Given the description of an element on the screen output the (x, y) to click on. 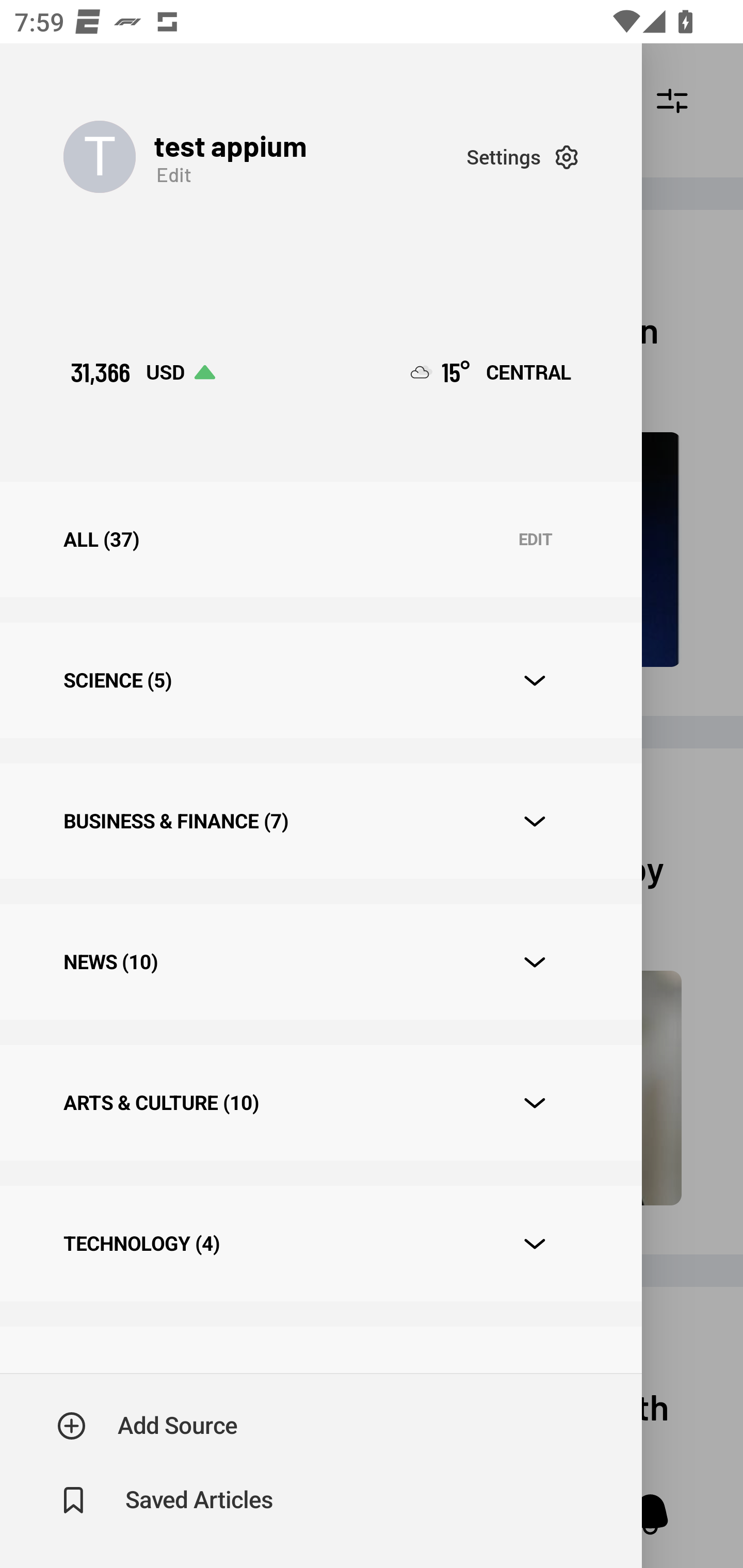
T test appium Edit (264, 156)
Settings Select News Style (522, 156)
31,366 USD Current State of the Currency (142, 372)
Current State of the Weather 15° CENTRAL (490, 372)
ALL  (37) EDIT (320, 539)
EDIT (534, 540)
SCIENCE  (5) Expand Button (320, 680)
Expand Button (534, 681)
BUSINESS & FINANCE  (7) Expand Button (320, 821)
Expand Button (534, 821)
NEWS  (10) Expand Button (320, 961)
Expand Button (534, 961)
ARTS & CULTURE  (10) Expand Button (320, 1102)
Expand Button (534, 1102)
TECHNOLOGY  (4) Expand Button (320, 1243)
Expand Button (534, 1244)
Open Content Store Add Source (147, 1425)
Open Saved News  Saved Articles (166, 1500)
